Given the description of an element on the screen output the (x, y) to click on. 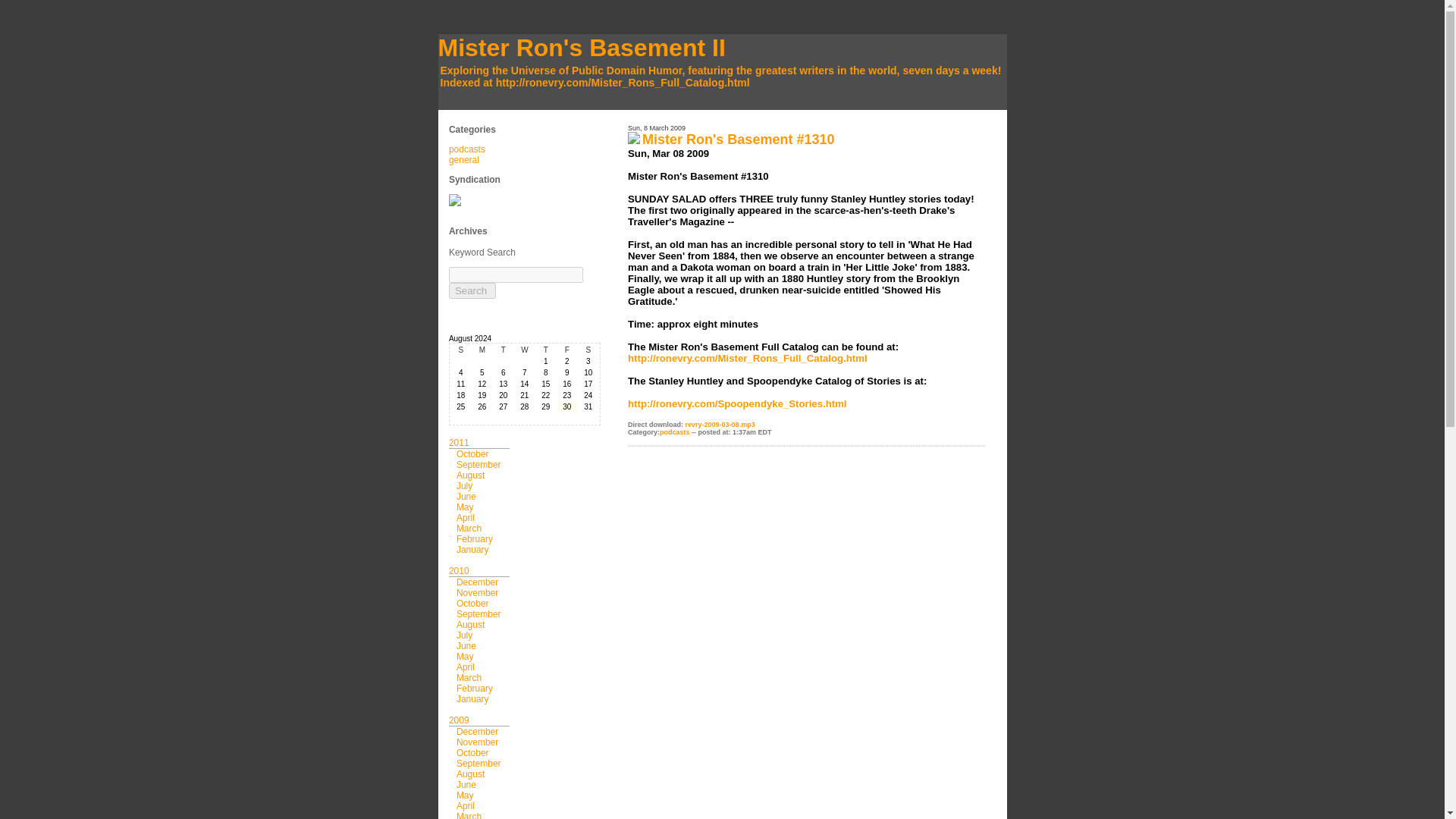
August (470, 624)
May (465, 795)
November (477, 593)
October (473, 752)
January (473, 698)
Sunday (460, 349)
November (477, 742)
June (466, 784)
December (477, 582)
Monday (481, 349)
